Given the description of an element on the screen output the (x, y) to click on. 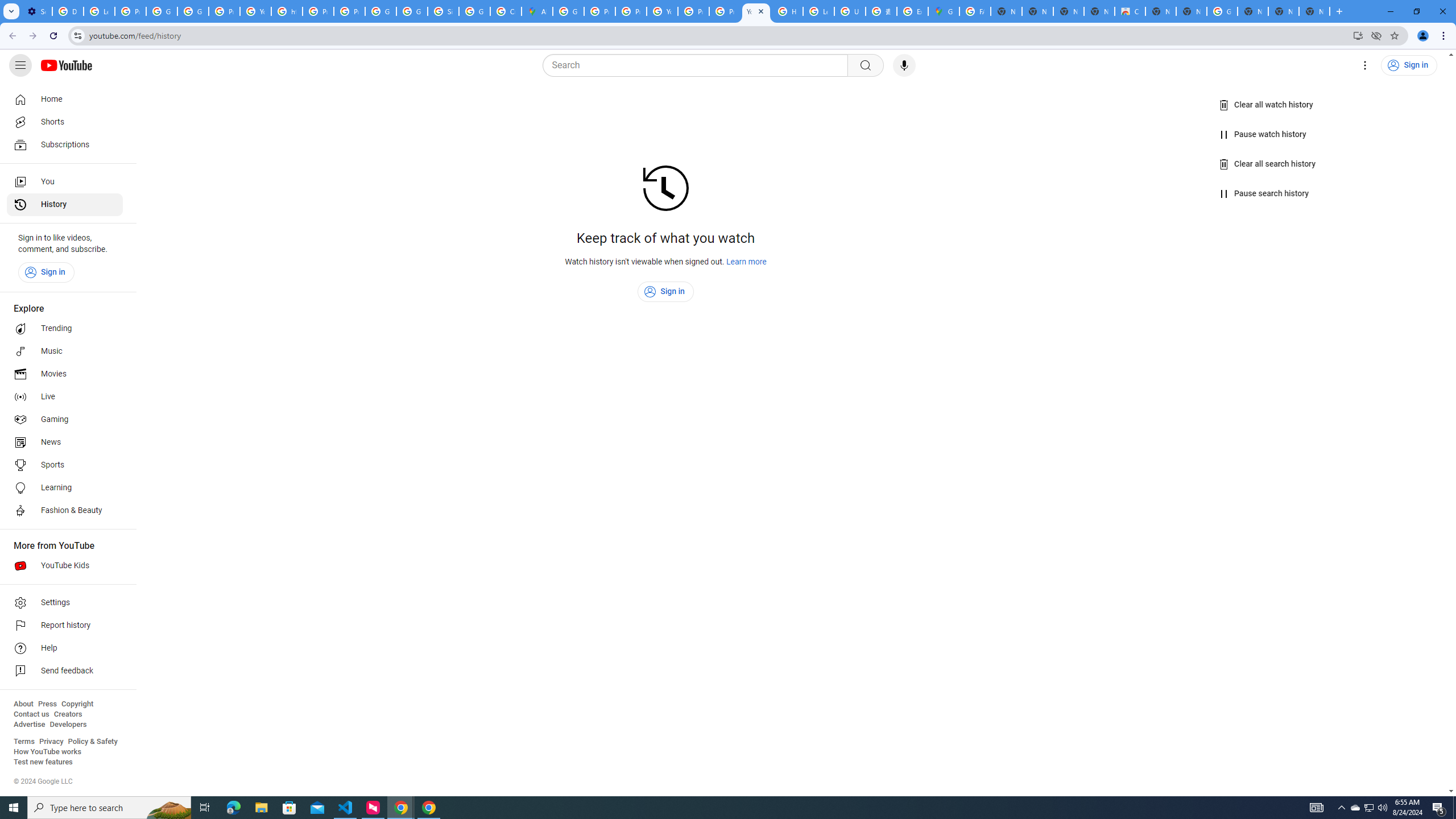
Pause search history (1264, 193)
Explore new street-level details - Google Maps Help (912, 11)
Movies (64, 373)
YouTube (756, 11)
Advertise (29, 724)
News (64, 441)
Google Account Help (161, 11)
Google Images (1222, 11)
YouTube Kids (64, 565)
Send feedback (64, 671)
Gaming (64, 419)
